Given the description of an element on the screen output the (x, y) to click on. 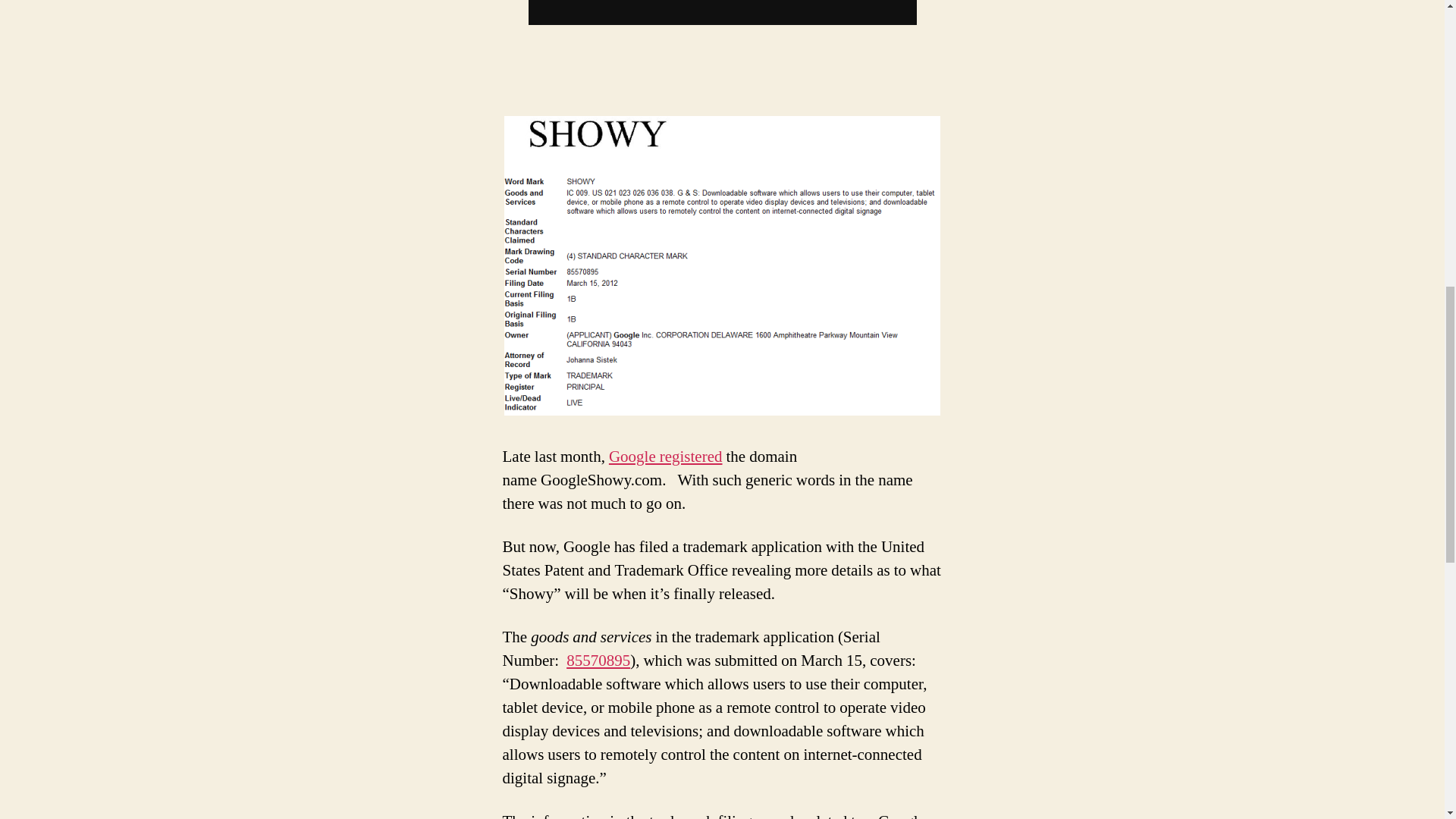
Showy Trademark (721, 265)
85570895 (598, 660)
Google registered (665, 456)
USPTO (598, 660)
What Will Google Showy Be? (665, 456)
